Given the description of an element on the screen output the (x, y) to click on. 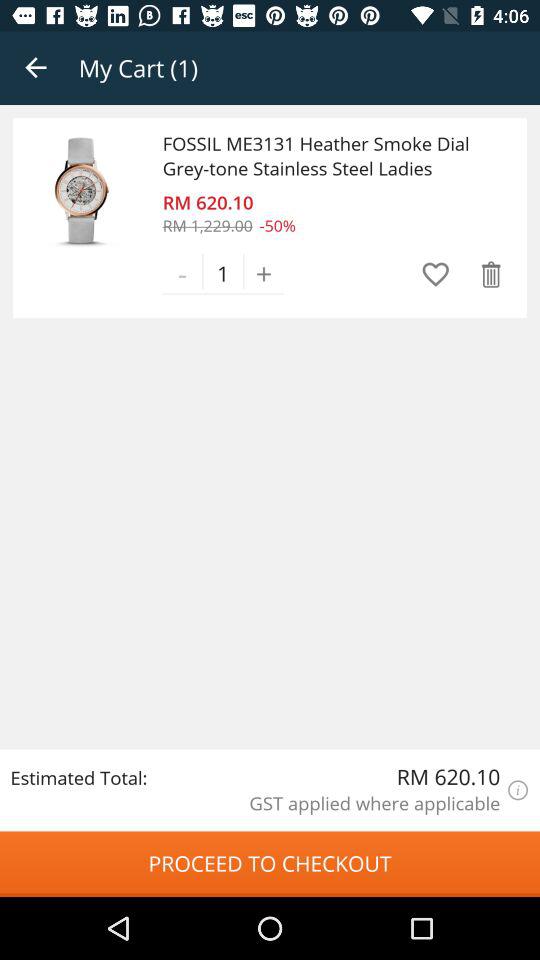
open app below my cart (1) (327, 155)
